Given the description of an element on the screen output the (x, y) to click on. 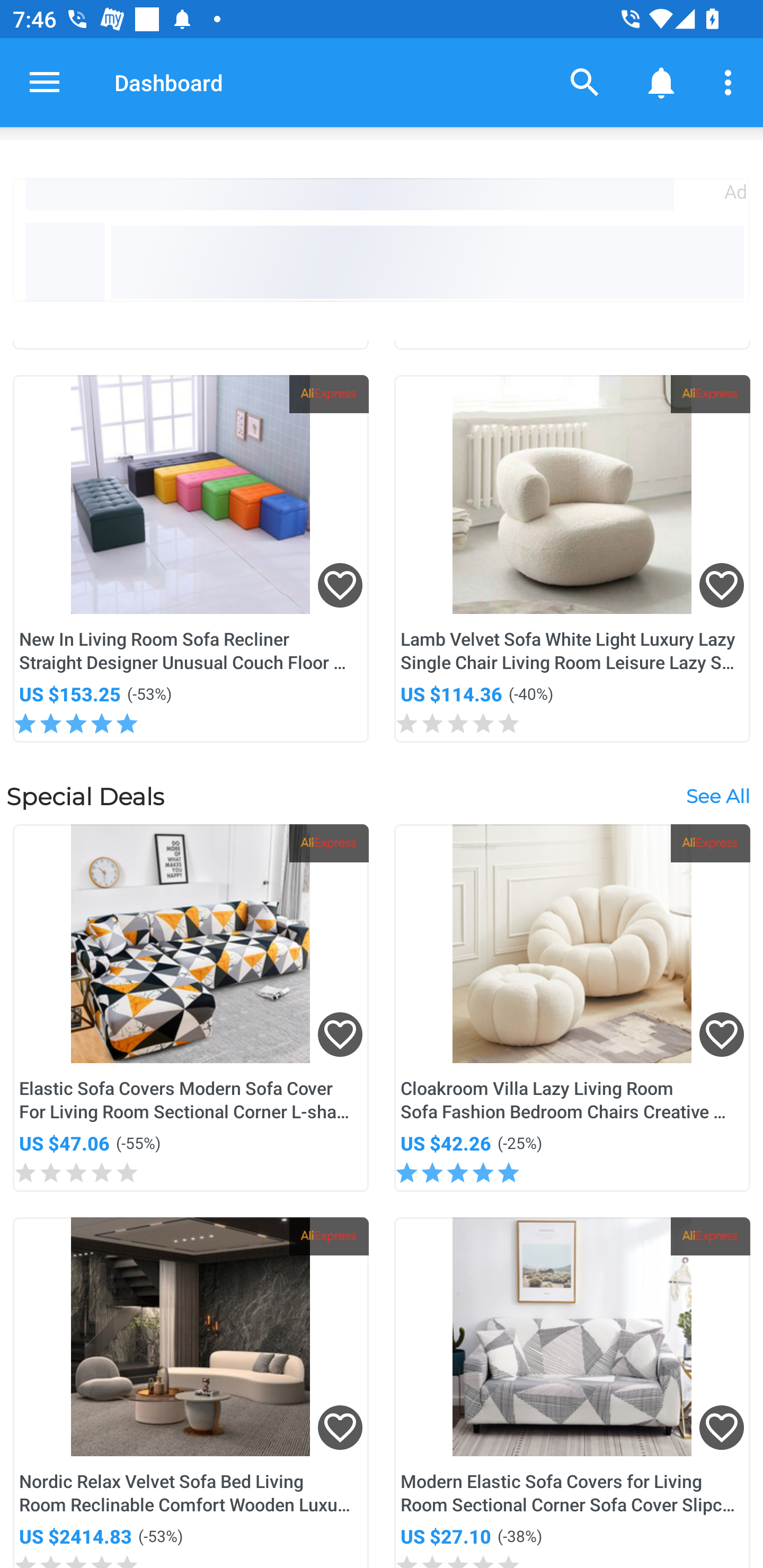
Open navigation drawer (44, 82)
Search (585, 81)
More options (731, 81)
See All (717, 796)
